Given the description of an element on the screen output the (x, y) to click on. 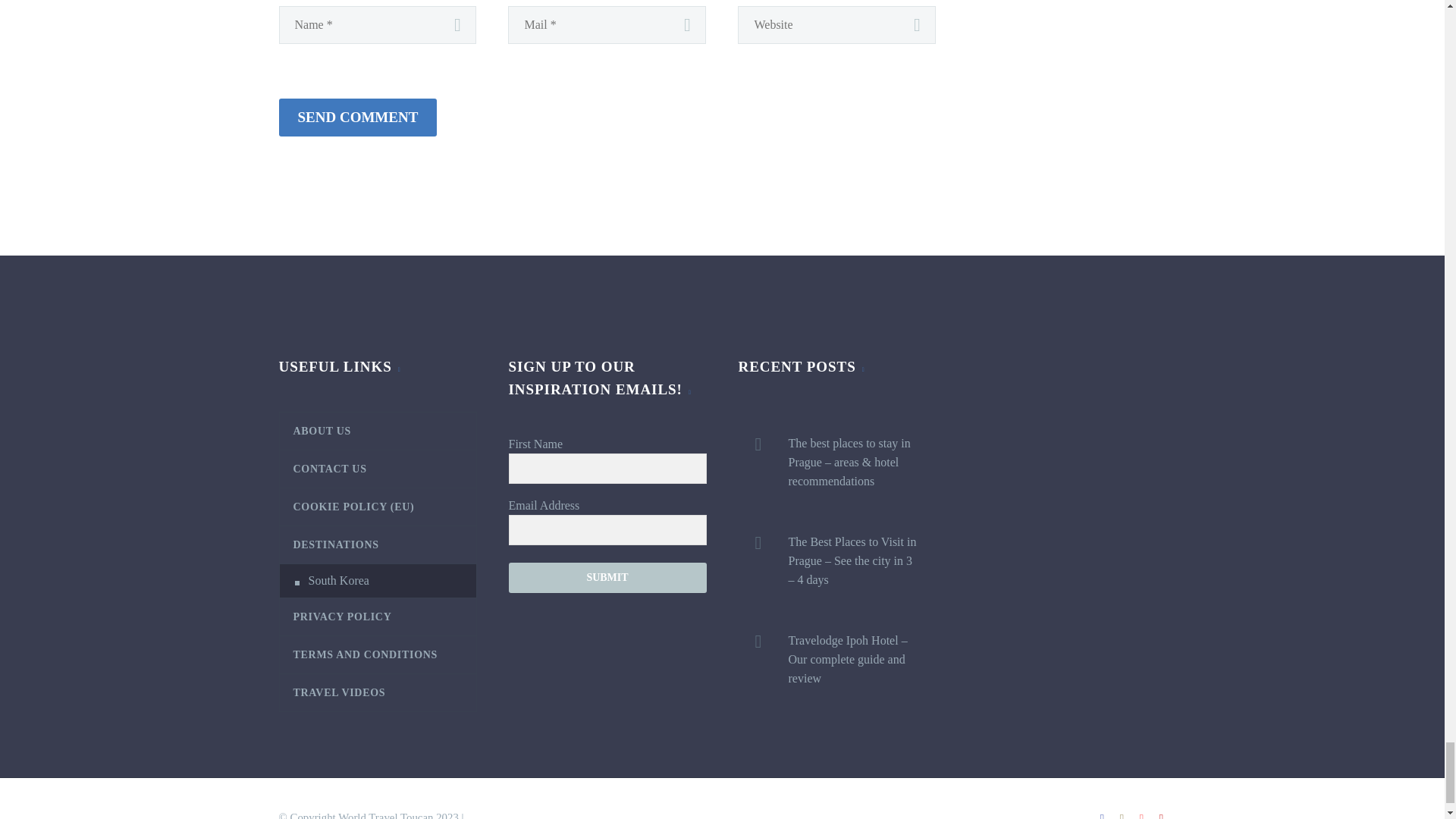
Facebook (1102, 816)
